Given the description of an element on the screen output the (x, y) to click on. 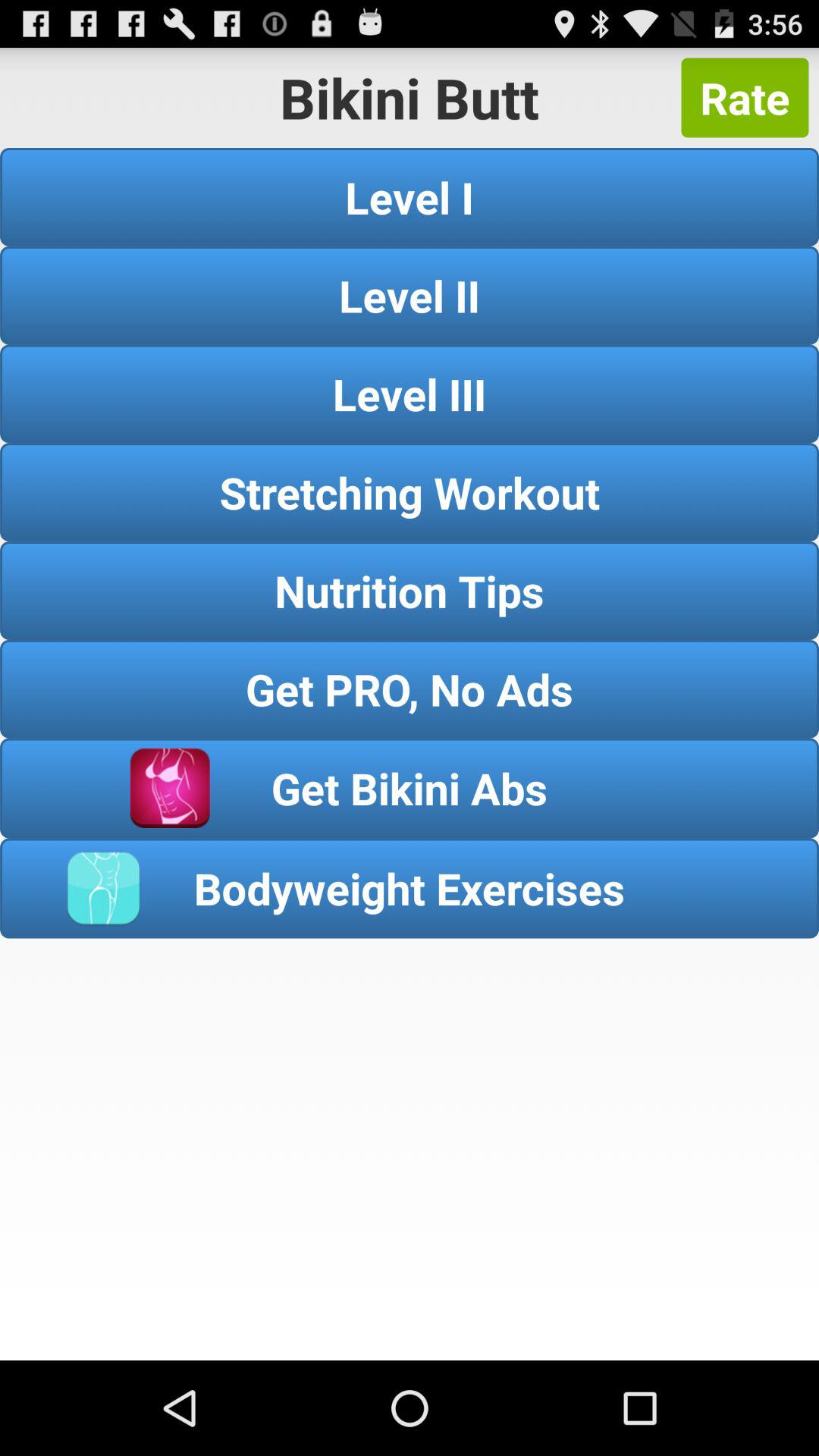
turn on nutrition tips (409, 590)
